Given the description of an element on the screen output the (x, y) to click on. 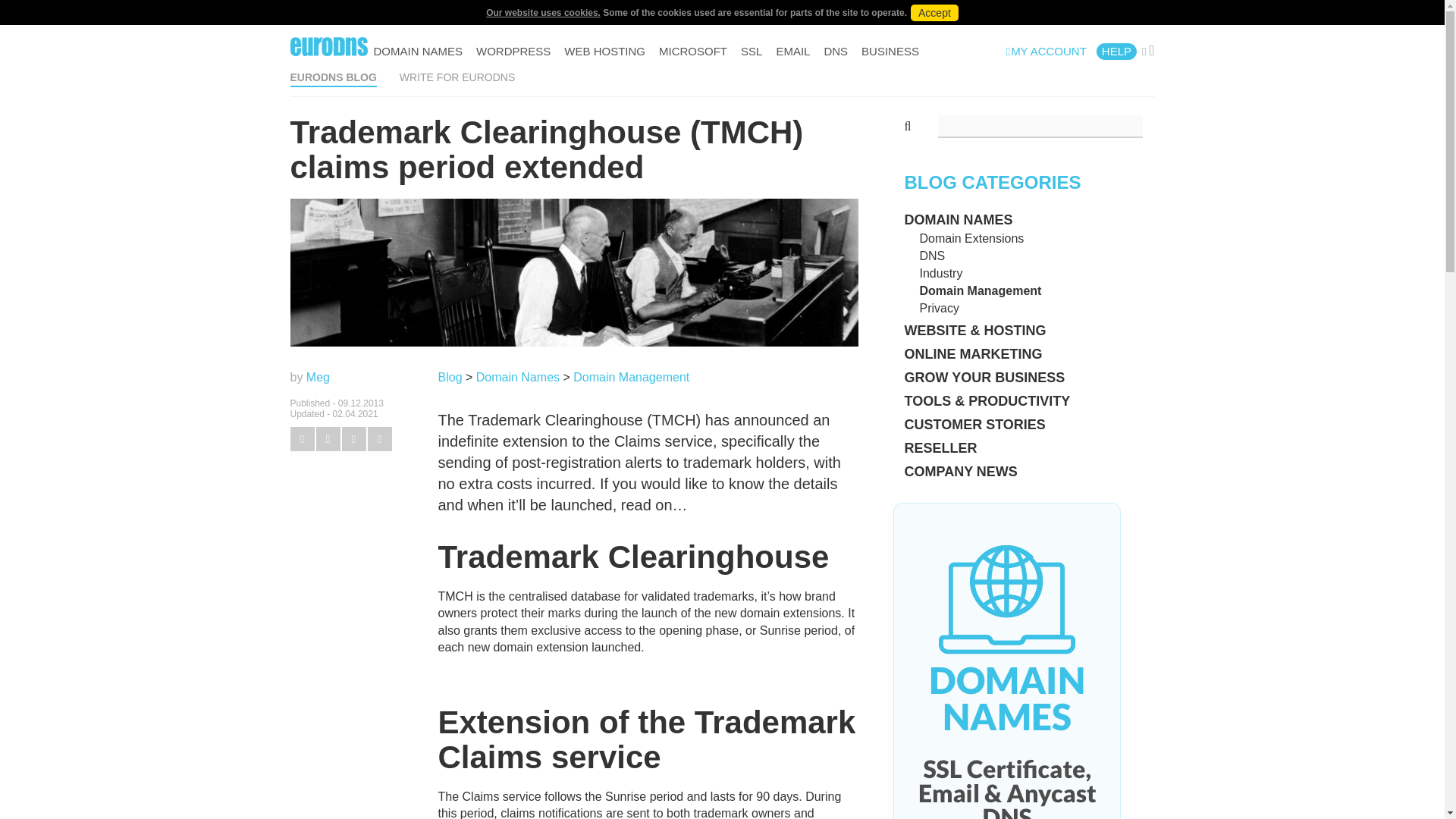
Domain Names (517, 377)
EURODNS BLOG (332, 77)
MY ACCOUNT (1046, 51)
MICROSOFT (692, 51)
EMAIL (792, 51)
Our website uses cookies. (542, 12)
SSL (751, 51)
WEB HOSTING (604, 51)
Domain Management (630, 377)
HELP (1116, 51)
BUSINESS (889, 51)
DOMAIN NAMES (417, 51)
DNS (835, 51)
BLOG (396, 93)
Blog (450, 377)
